Given the description of an element on the screen output the (x, y) to click on. 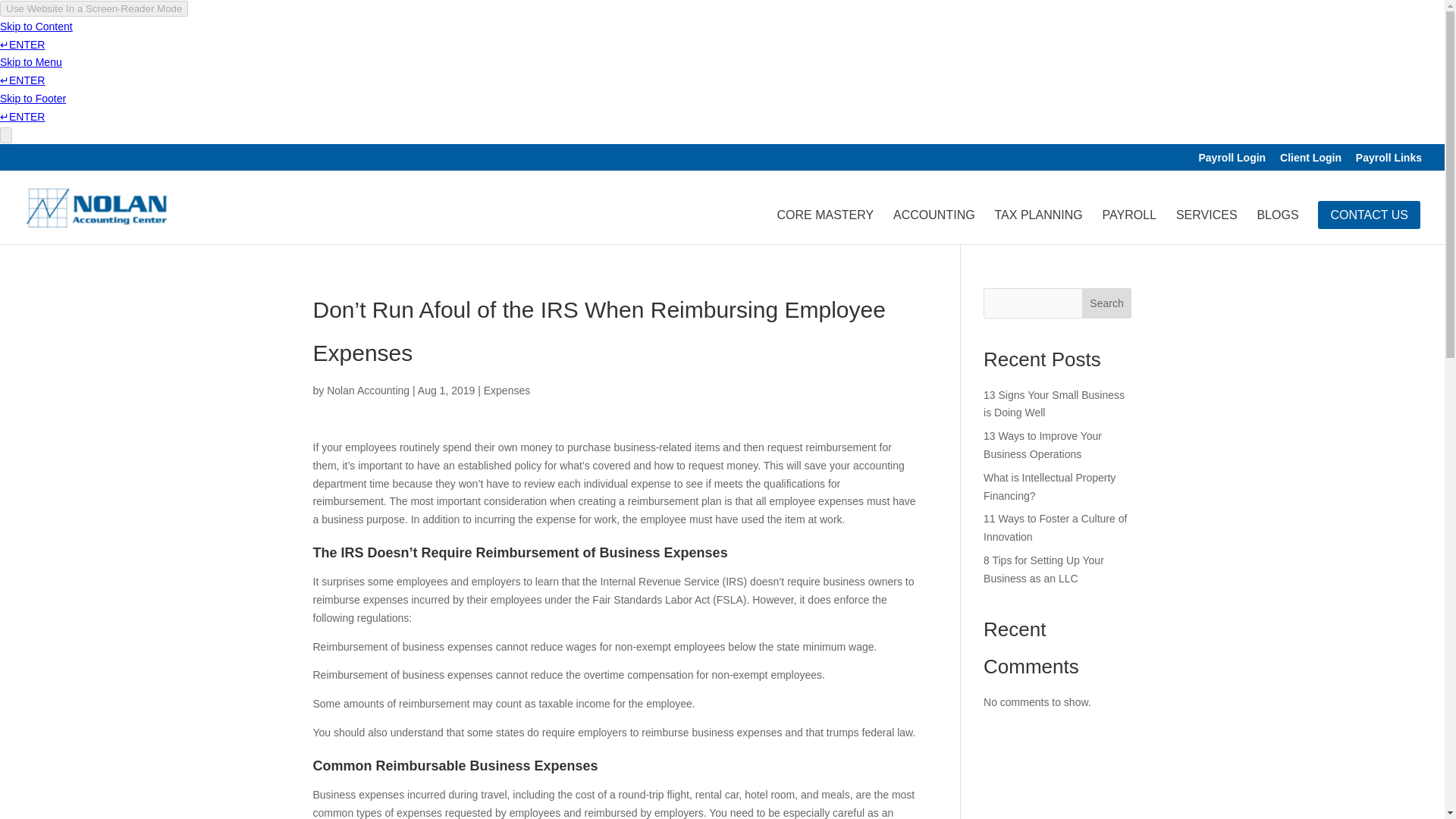
BLOGS (1277, 222)
13 Ways to Improve Your Business Operations (1043, 444)
8 Tips for Setting Up Your Business as an LLC  (1043, 569)
Expenses (506, 390)
ACCOUNTING (934, 222)
CONTACT US (1369, 214)
Posts by Nolan Accounting (367, 390)
CORE MASTERY (824, 222)
Search (1106, 303)
TAX PLANNING (1038, 222)
